Given the description of an element on the screen output the (x, y) to click on. 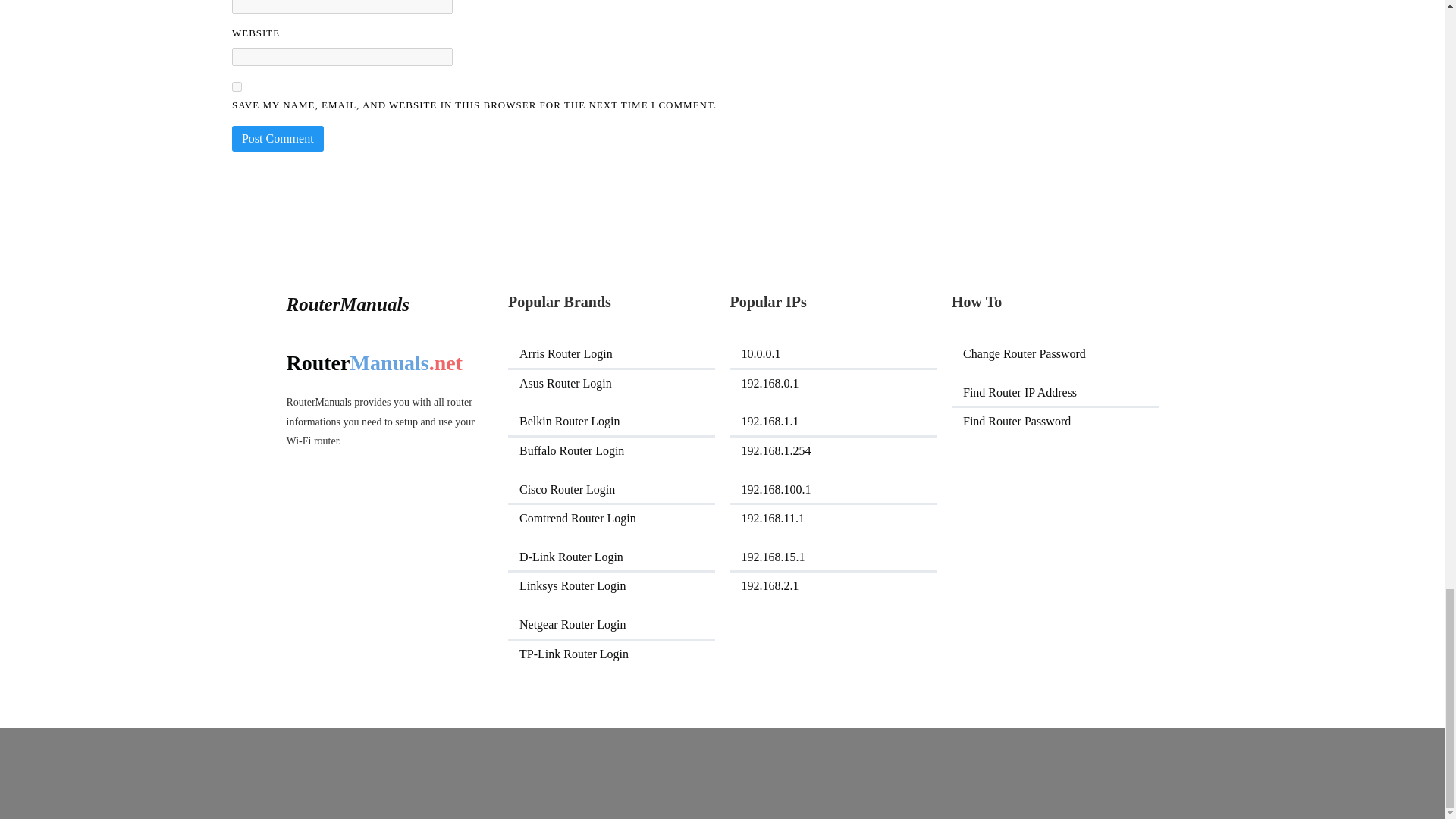
D-Link Router Login (611, 556)
Belkin Router Login (611, 420)
Comtrend Router Login (611, 518)
Asus Router Login (611, 383)
Linksys Router Login (611, 585)
Post Comment (277, 138)
TP-Link Router Login (611, 654)
Arris Router Login (611, 353)
Post Comment (277, 138)
Buffalo Router Login (611, 451)
Cisco Router Login (611, 489)
Netgear Router Login (611, 624)
yes (236, 86)
